Given the description of an element on the screen output the (x, y) to click on. 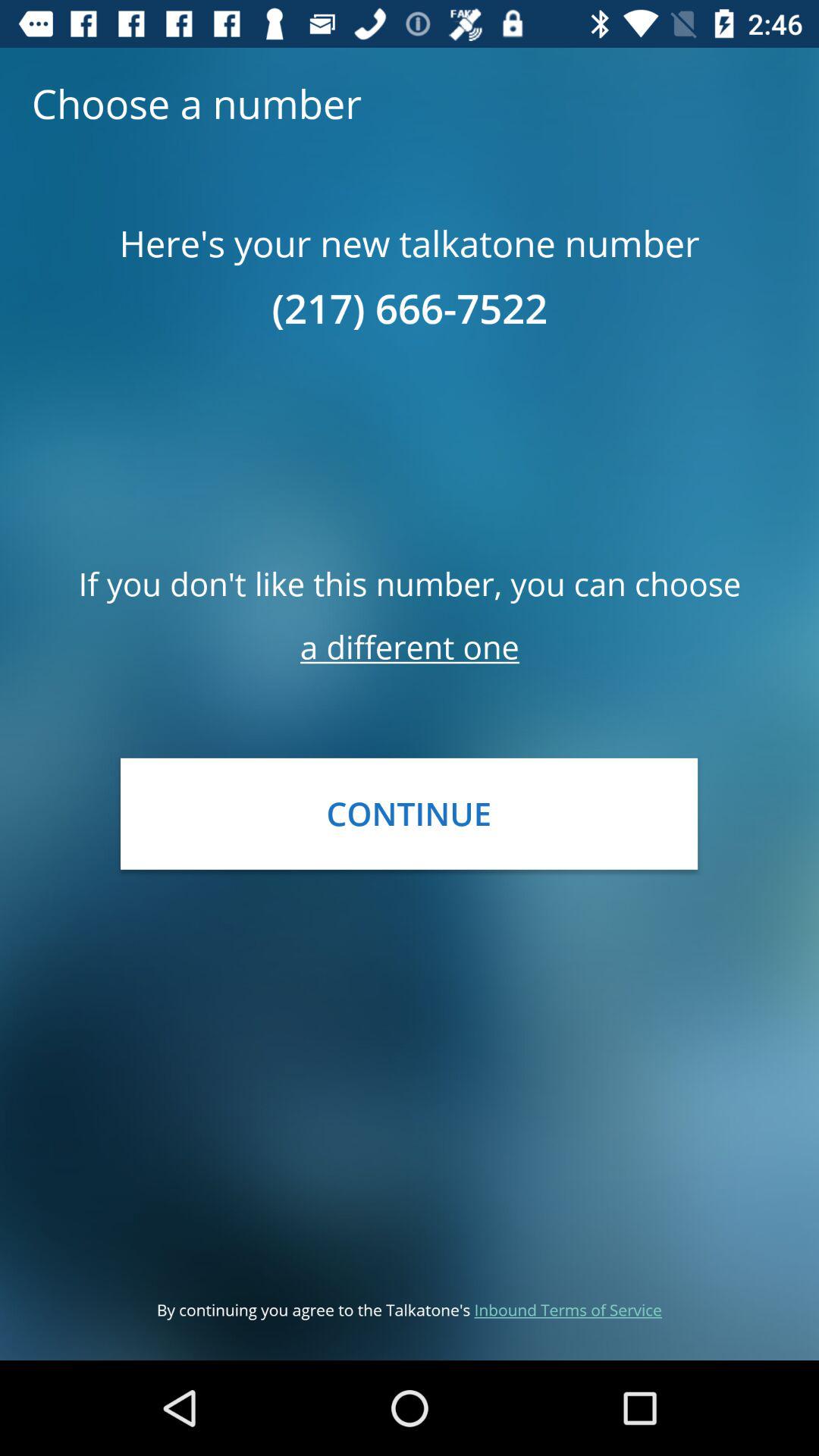
launch the by continuing you icon (409, 1309)
